Given the description of an element on the screen output the (x, y) to click on. 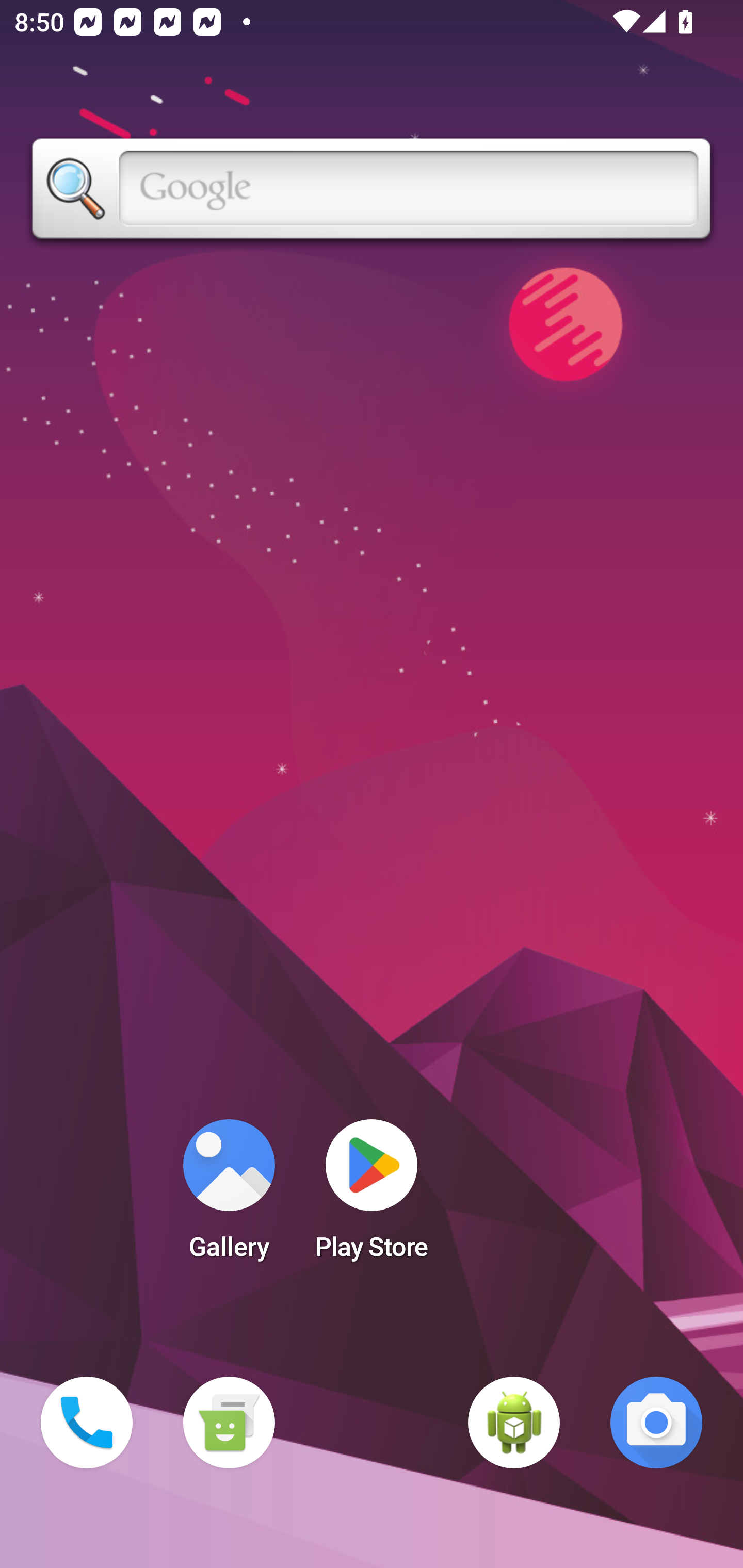
Gallery (228, 1195)
Play Store (371, 1195)
Phone (86, 1422)
Messaging (228, 1422)
WebView Browser Tester (513, 1422)
Camera (656, 1422)
